Given the description of an element on the screen output the (x, y) to click on. 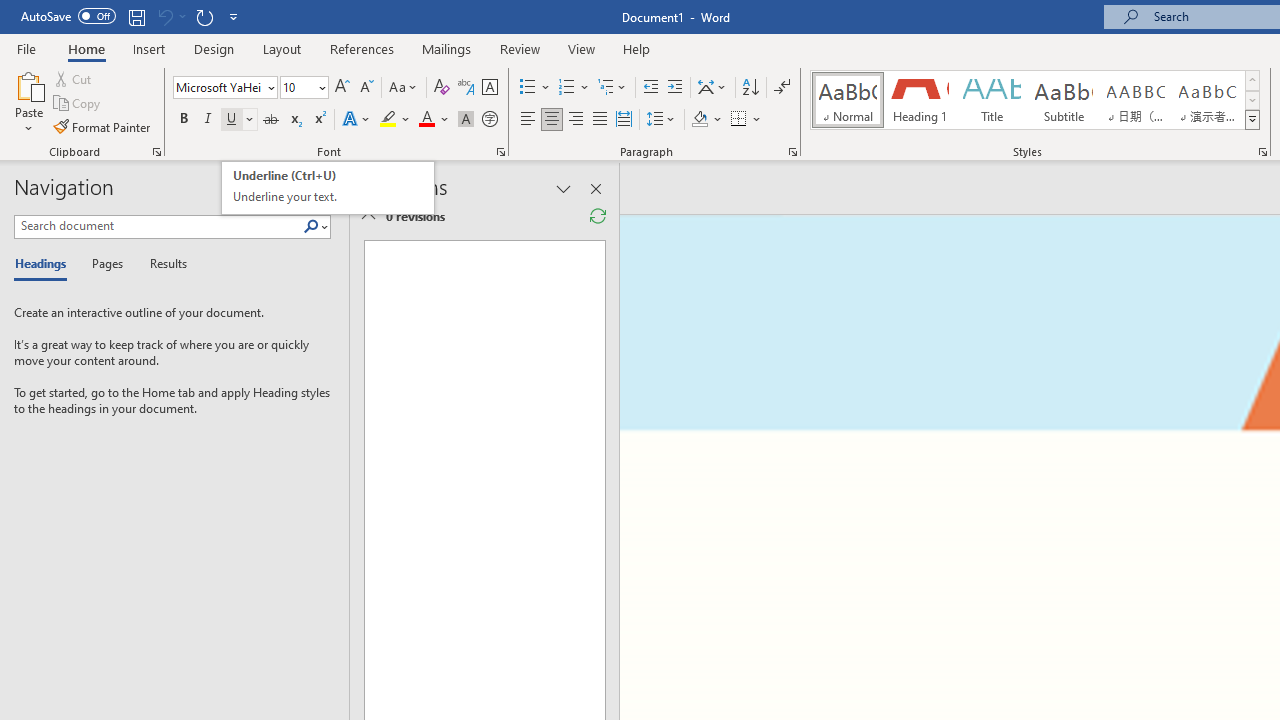
Repeat Doc Close (204, 15)
Subtitle (1063, 100)
AutomationID: QuickStylesGallery (1035, 99)
